Given the description of an element on the screen output the (x, y) to click on. 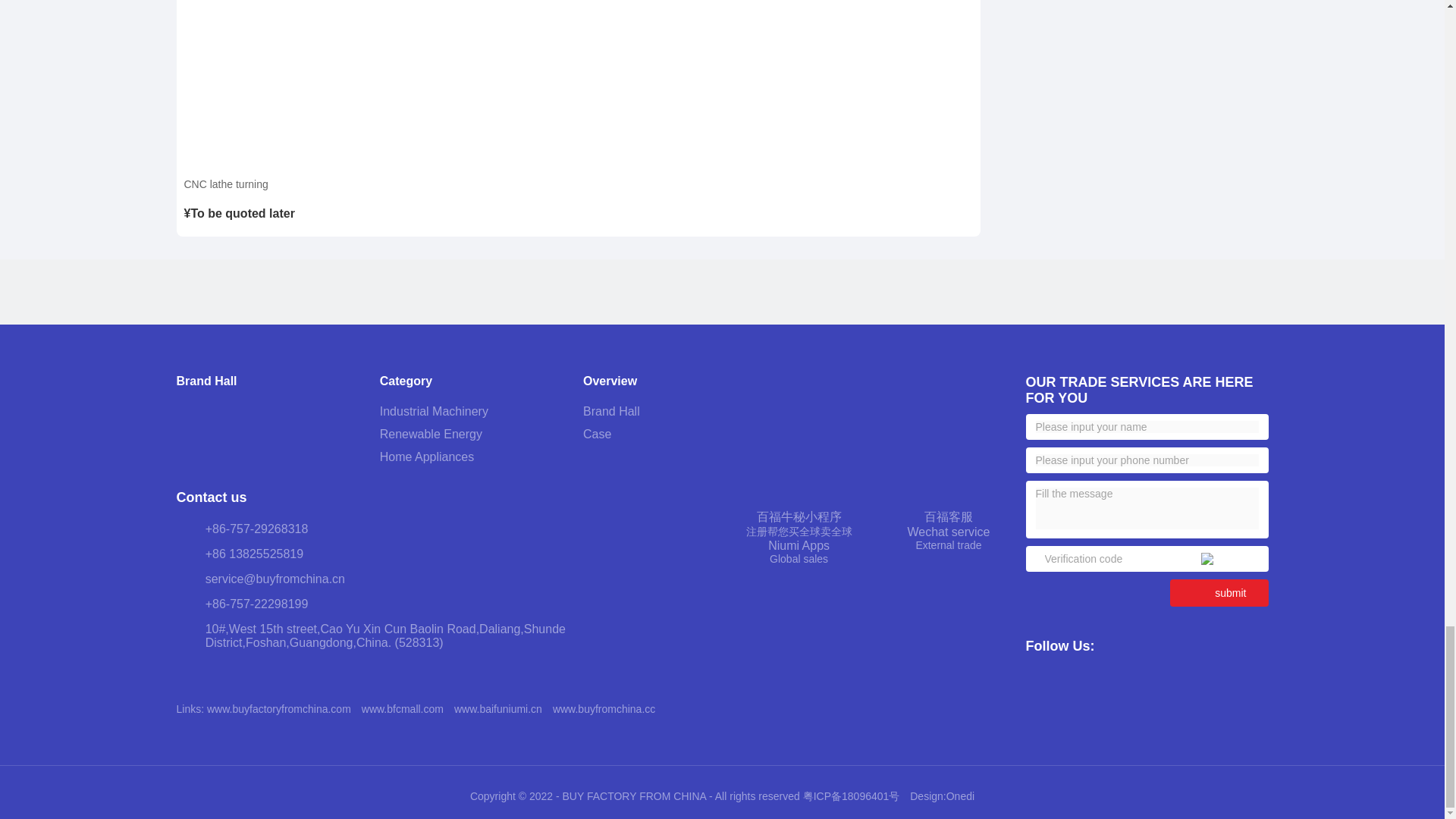
submit (1219, 592)
